Given the description of an element on the screen output the (x, y) to click on. 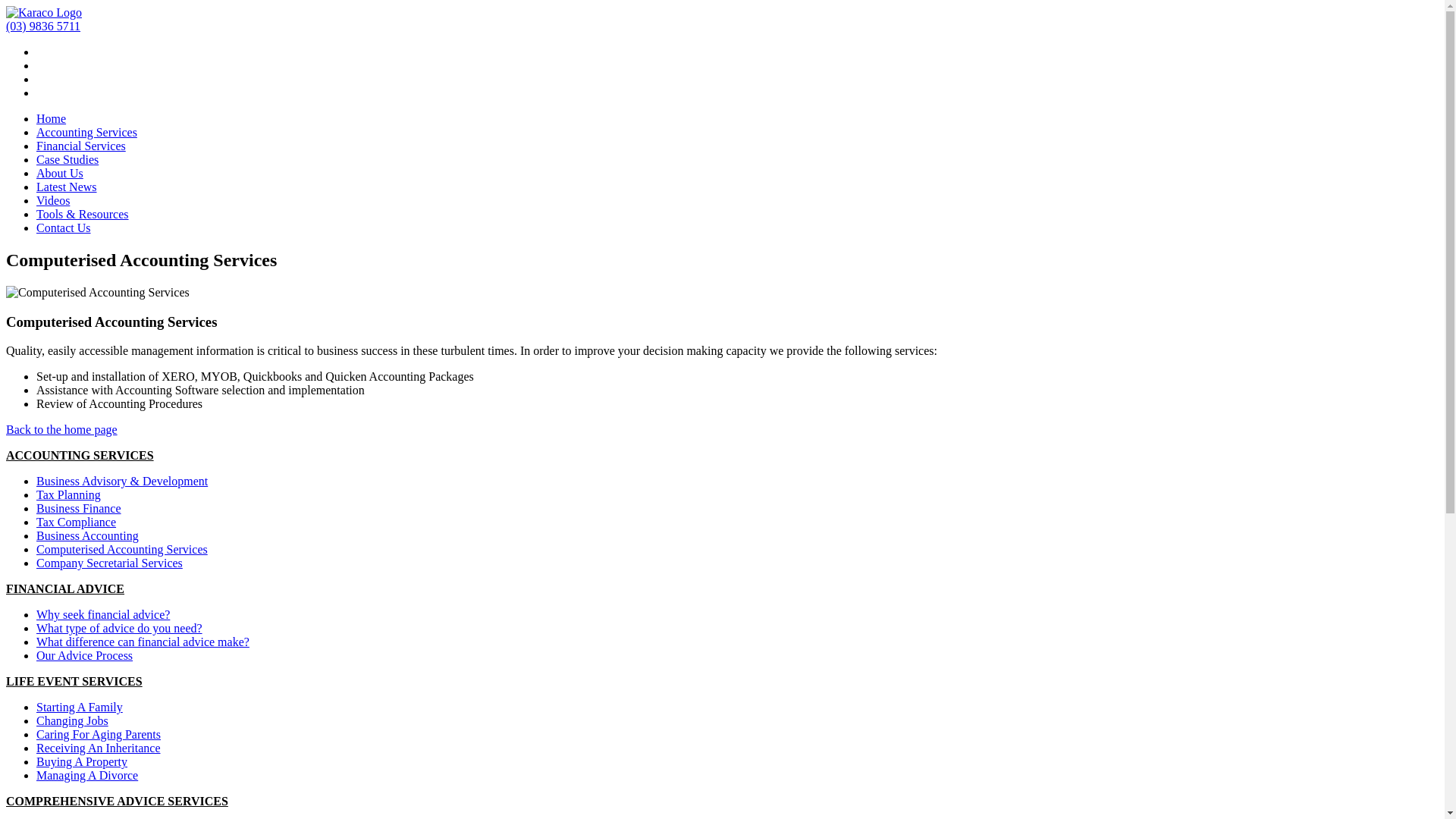
Tax Compliance Element type: text (76, 521)
Home Element type: text (50, 118)
Case Studies Element type: text (67, 159)
Business Finance Element type: text (78, 508)
Back to the home page Element type: text (61, 429)
Managing A Divorce Element type: text (87, 774)
Computerised Accounting Services Element type: text (121, 548)
Buying A Property Element type: text (81, 761)
Starting A Family Element type: text (79, 706)
About Us Element type: text (59, 172)
Changing Jobs Element type: text (72, 720)
Our Advice Process Element type: text (84, 655)
Contact Us Element type: text (63, 227)
Videos Element type: text (52, 200)
Business Accounting Element type: text (87, 535)
Company Secretarial Services Element type: text (109, 562)
What difference can financial advice make? Element type: text (142, 641)
Business Advisory & Development Element type: text (121, 480)
Financial Services Element type: text (80, 145)
Accounting Services Element type: text (86, 131)
Caring For Aging Parents Element type: text (98, 734)
What type of advice do you need? Element type: text (119, 627)
Receiving An Inheritance Element type: text (98, 747)
(03) 9836 5711 Element type: text (43, 25)
Tax Planning Element type: text (68, 494)
Latest News Element type: text (66, 186)
Tools & Resources Element type: text (82, 213)
Why seek financial advice? Element type: text (102, 614)
